Given the description of an element on the screen output the (x, y) to click on. 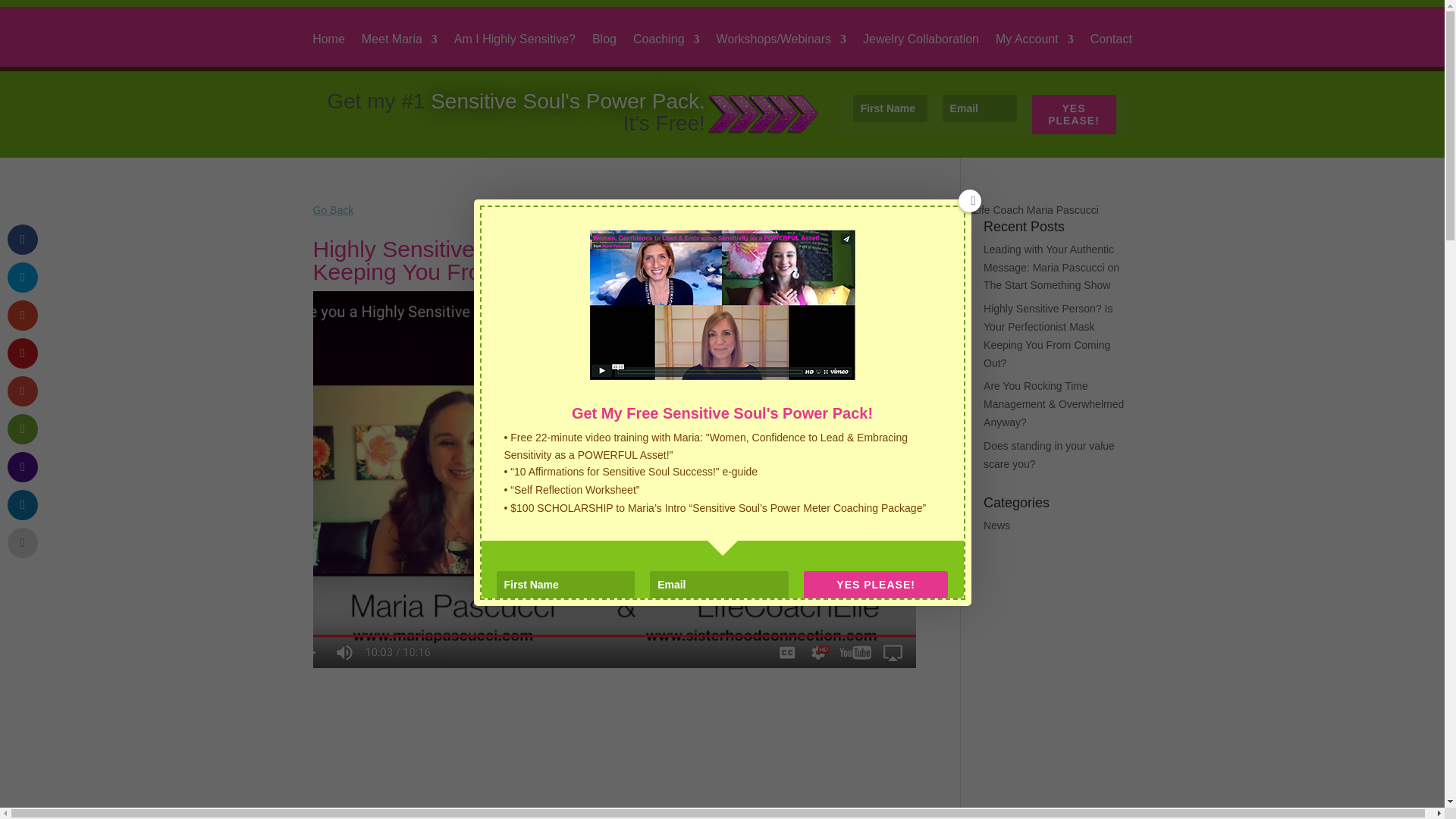
Am I Highly Sensitive? (514, 50)
My Account (1034, 50)
Blog (603, 50)
Coaching (666, 50)
Contact (1111, 50)
Home (329, 50)
Jewelry Collaboration (920, 50)
Meet Maria (399, 50)
